Given the description of an element on the screen output the (x, y) to click on. 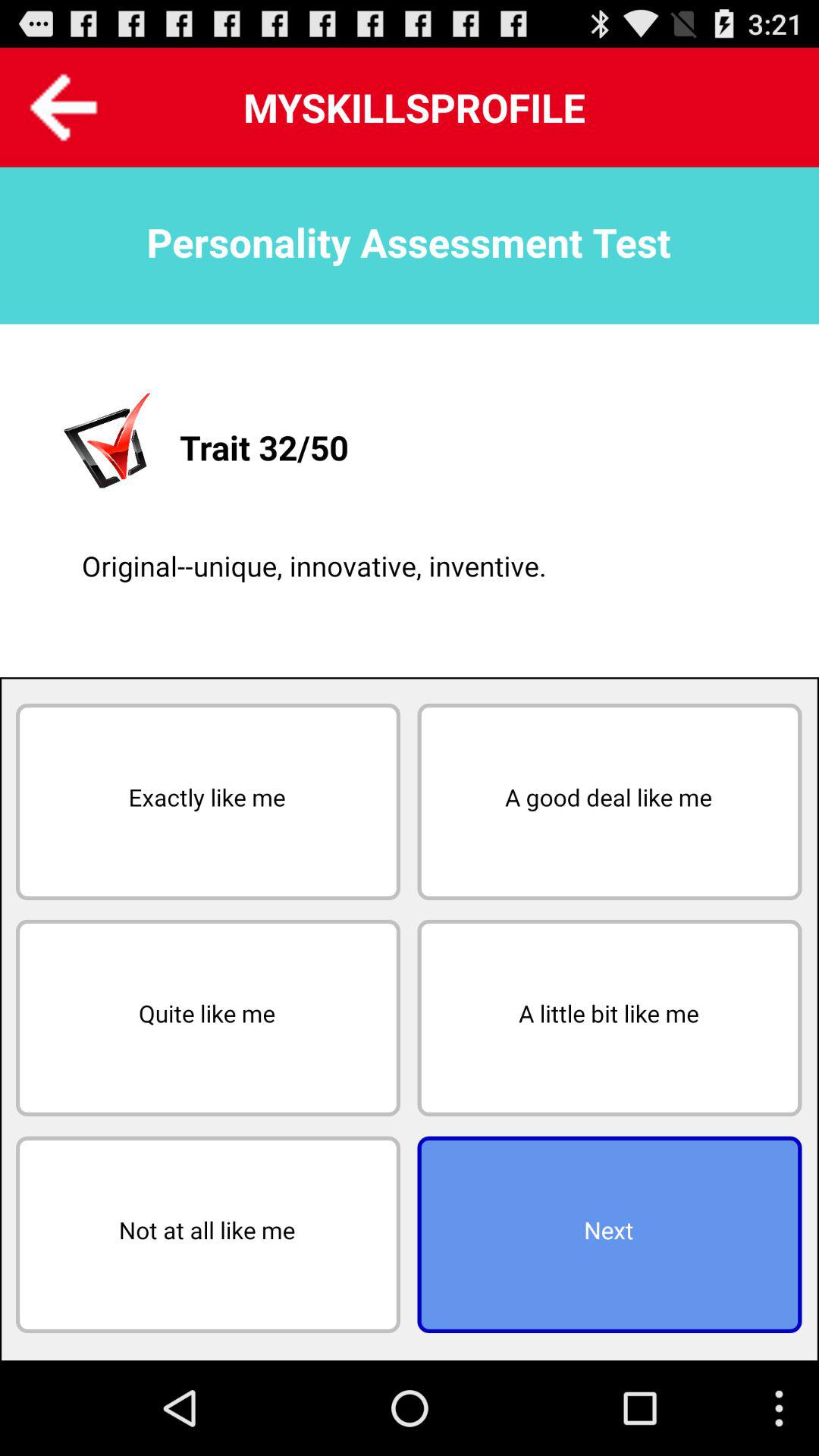
tap the icon to the right of the not at all button (609, 1234)
